Given the description of an element on the screen output the (x, y) to click on. 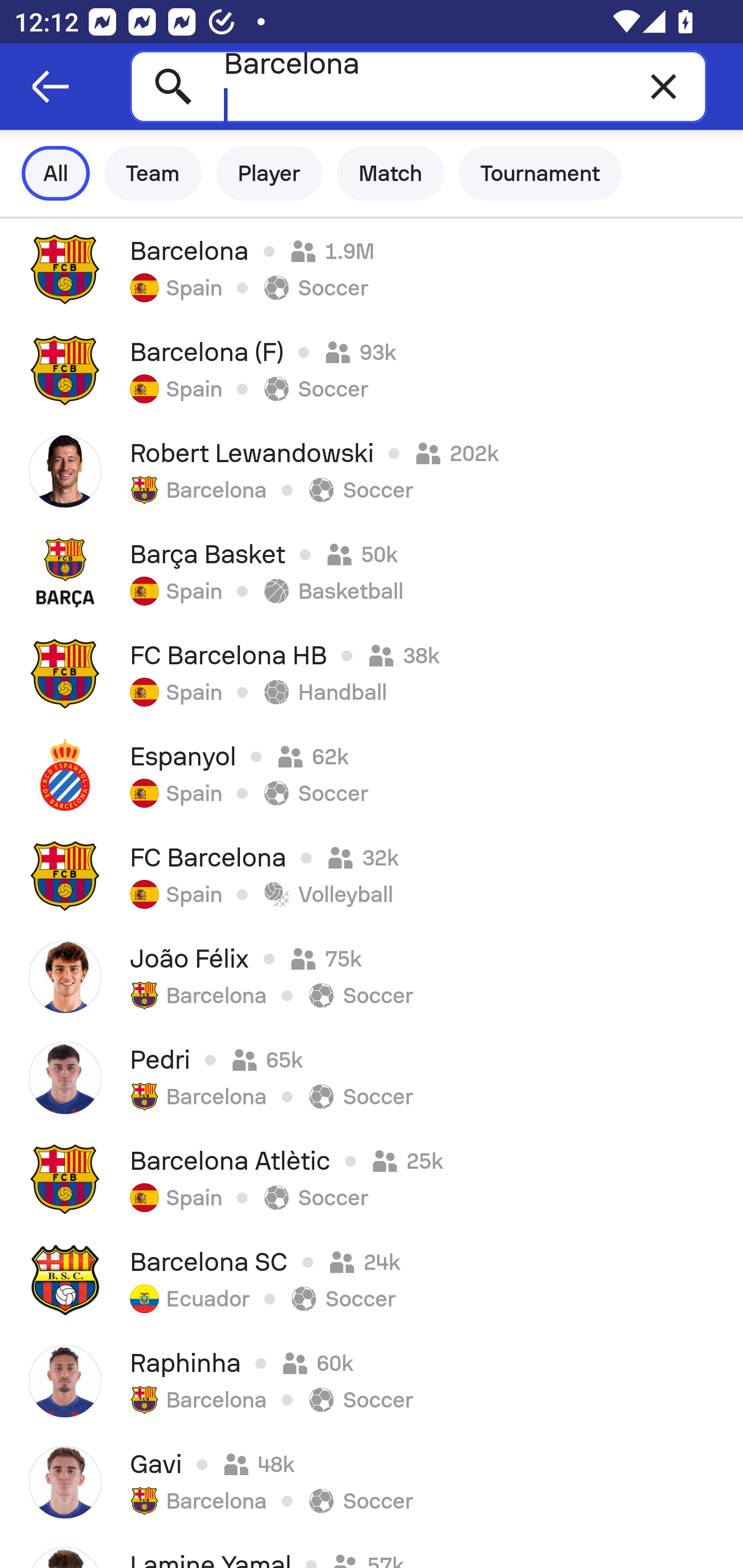
Navigate up (50, 86)
Barcelona
 (418, 86)
Clear text (663, 86)
All (55, 172)
Team (152, 172)
Player (268, 172)
Match (390, 172)
Tournament (540, 172)
Barcelona 1.9M Spain Soccer (371, 268)
Barcelona (F) 93k Spain Soccer (371, 369)
Robert Lewandowski 202k Barcelona Soccer (371, 471)
Barça Basket 50k Spain Basketball (371, 572)
FC Barcelona HB 38k Spain Handball (371, 673)
Espanyol 62k Spain Soccer (371, 774)
FC Barcelona 32k Spain Volleyball (371, 875)
João Félix 75k Barcelona Soccer (371, 976)
Pedri 65k Barcelona Soccer (371, 1077)
Barcelona Atlètic 25k Spain Soccer (371, 1178)
Barcelona SC 24k Ecuador Soccer (371, 1280)
Raphinha 60k Barcelona Soccer (371, 1381)
Gavi 48k Barcelona Soccer (371, 1482)
